Given the description of an element on the screen output the (x, y) to click on. 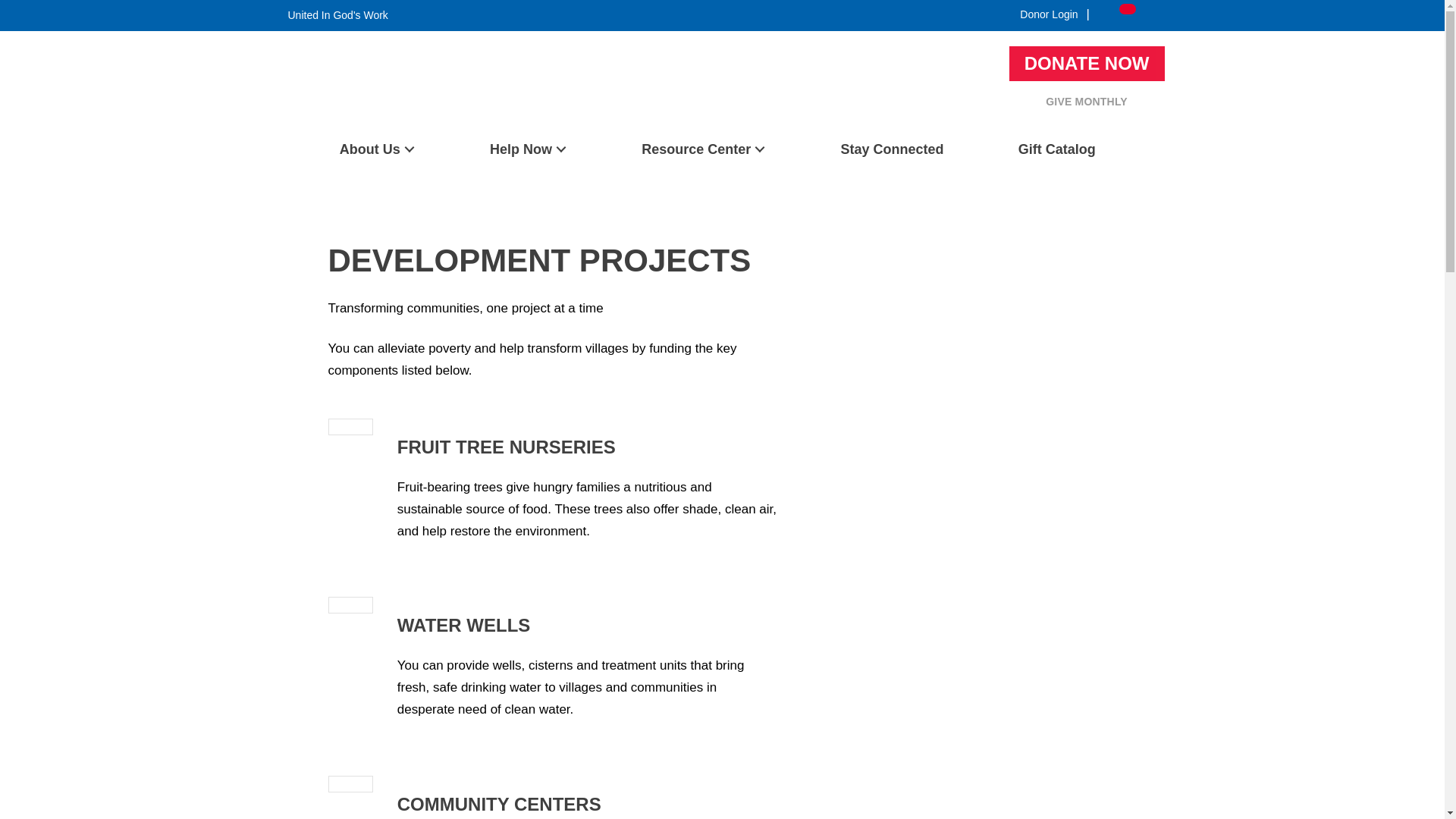
Donor Login (1048, 14)
About Us (376, 149)
Food For The Poor (334, 122)
GIVE MONTHLY (1085, 101)
DONATE NOW (1086, 63)
